Given the description of an element on the screen output the (x, y) to click on. 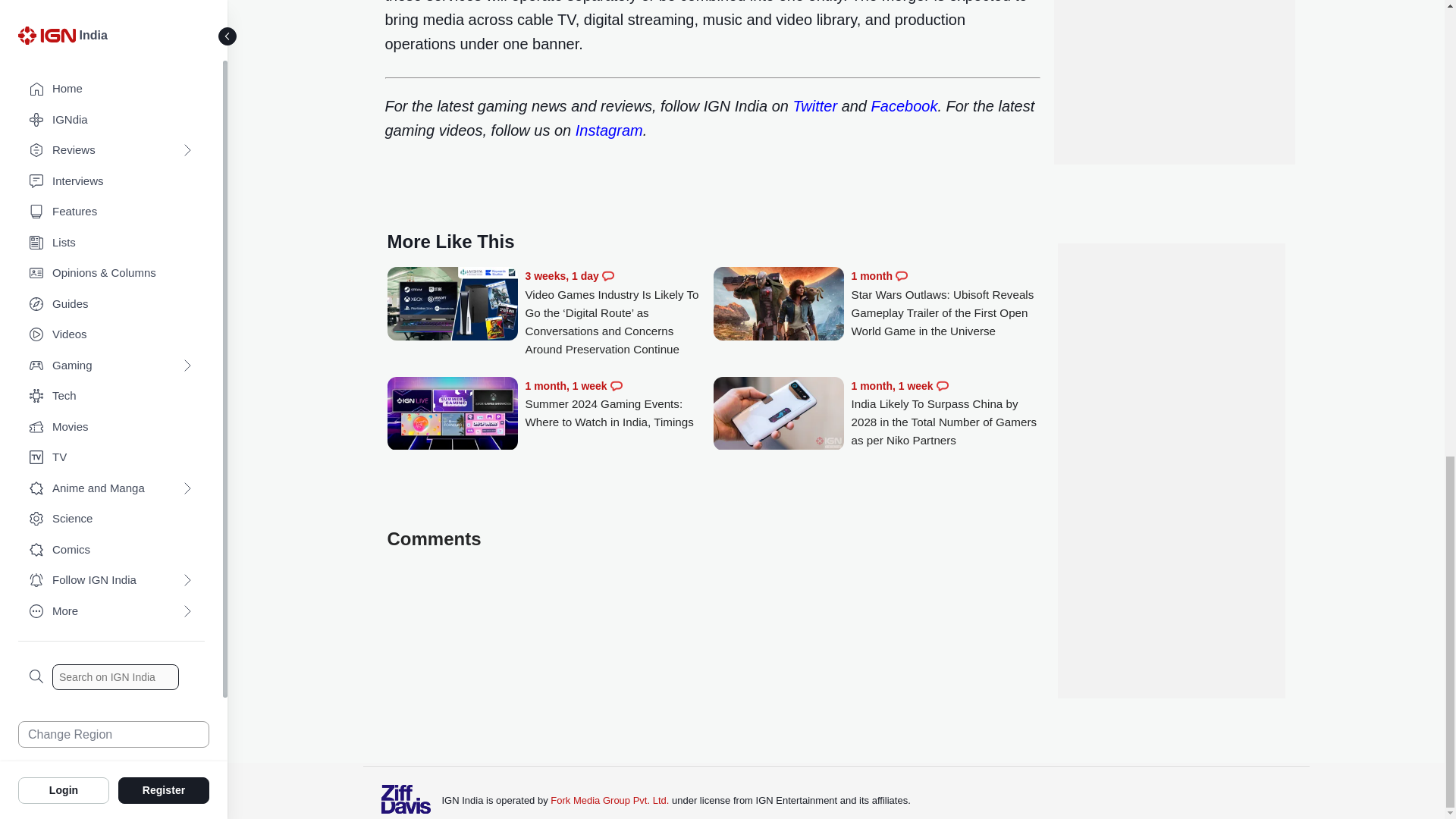
Summer 2024 Gaming Events: Where to Watch in India, Timings (451, 414)
Summer 2024 Gaming Events: Where to Watch in India, Timings (618, 404)
